Given the description of an element on the screen output the (x, y) to click on. 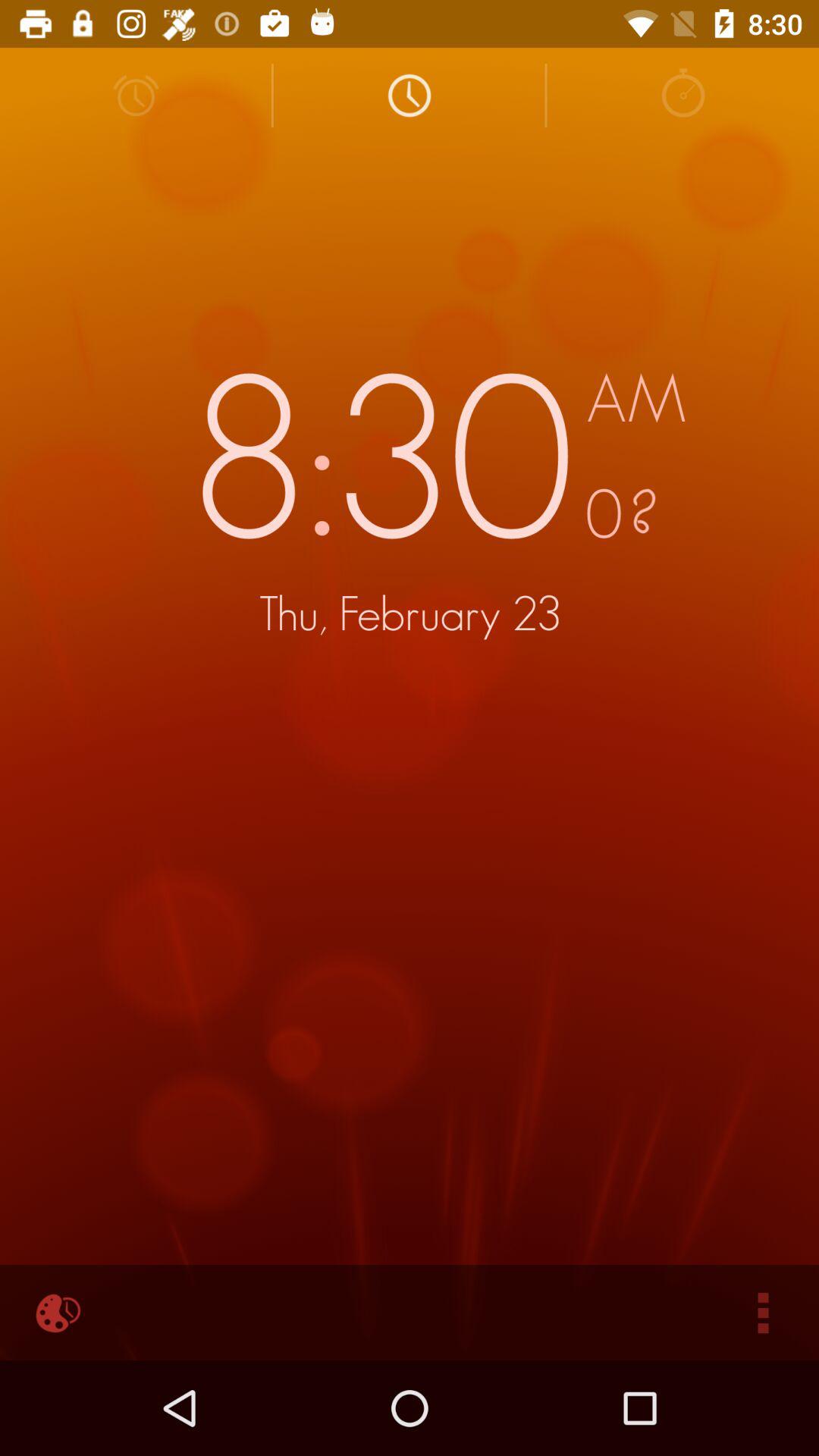
click to paint (55, 1312)
